Given the description of an element on the screen output the (x, y) to click on. 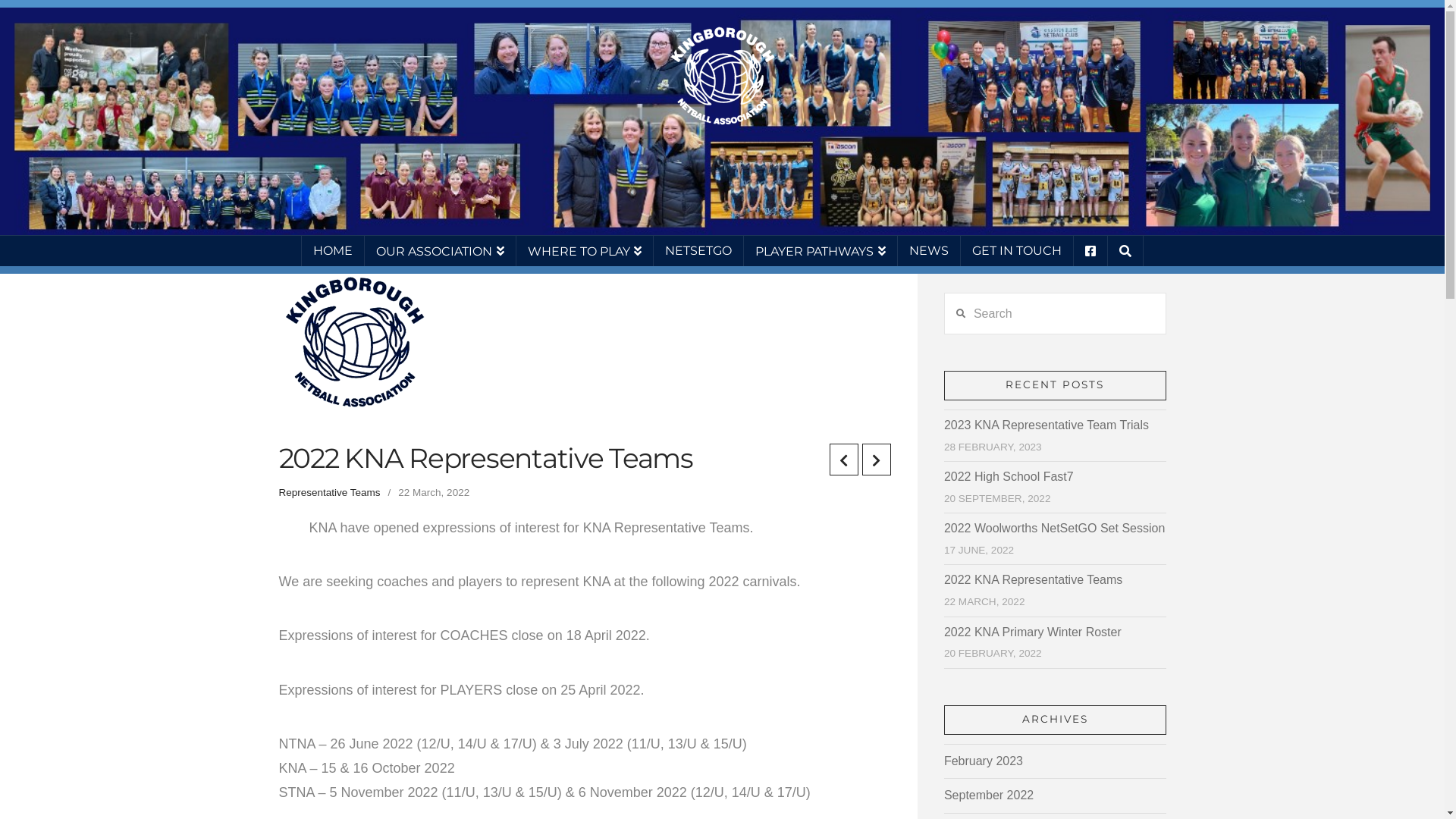
GET IN TOUCH Element type: text (1016, 250)
NETSETGO Element type: text (698, 250)
HOME Element type: text (332, 250)
2022 KNA Representative Teams Element type: text (1033, 579)
2022 High School Fast7 Element type: text (1008, 476)
2023 KNA Representative Team Trials Element type: text (1046, 424)
September 2022 Element type: text (988, 795)
OUR ASSOCIATION Element type: text (440, 250)
WHERE TO PLAY Element type: text (585, 250)
2022 Woolworths NetSetGO Set Session Element type: text (1054, 527)
Representative Teams Element type: text (329, 492)
February 2023 Element type: text (983, 761)
PLAYER PATHWAYS Element type: text (820, 250)
NEWS Element type: text (928, 250)
2022 KNA Primary Winter Roster Element type: text (1032, 631)
